Given the description of an element on the screen output the (x, y) to click on. 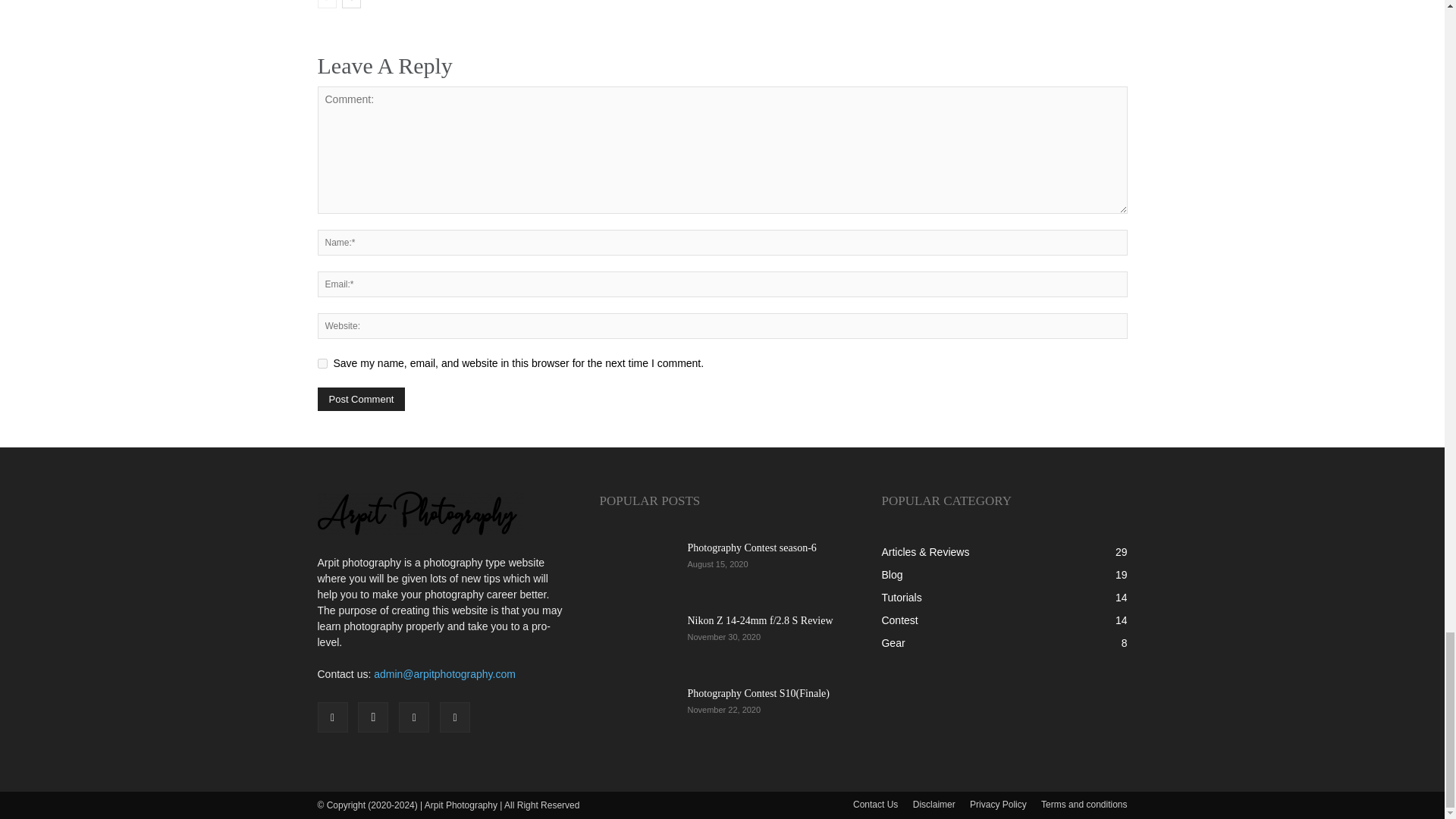
yes (321, 363)
Post Comment (360, 399)
